Given the description of an element on the screen output the (x, y) to click on. 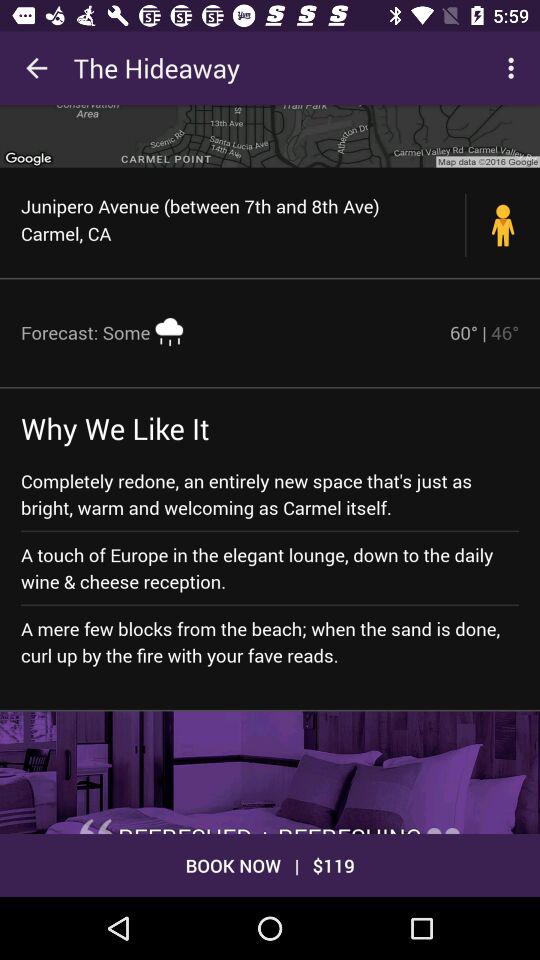
tap the item at the bottom left corner (95, 825)
